Given the description of an element on the screen output the (x, y) to click on. 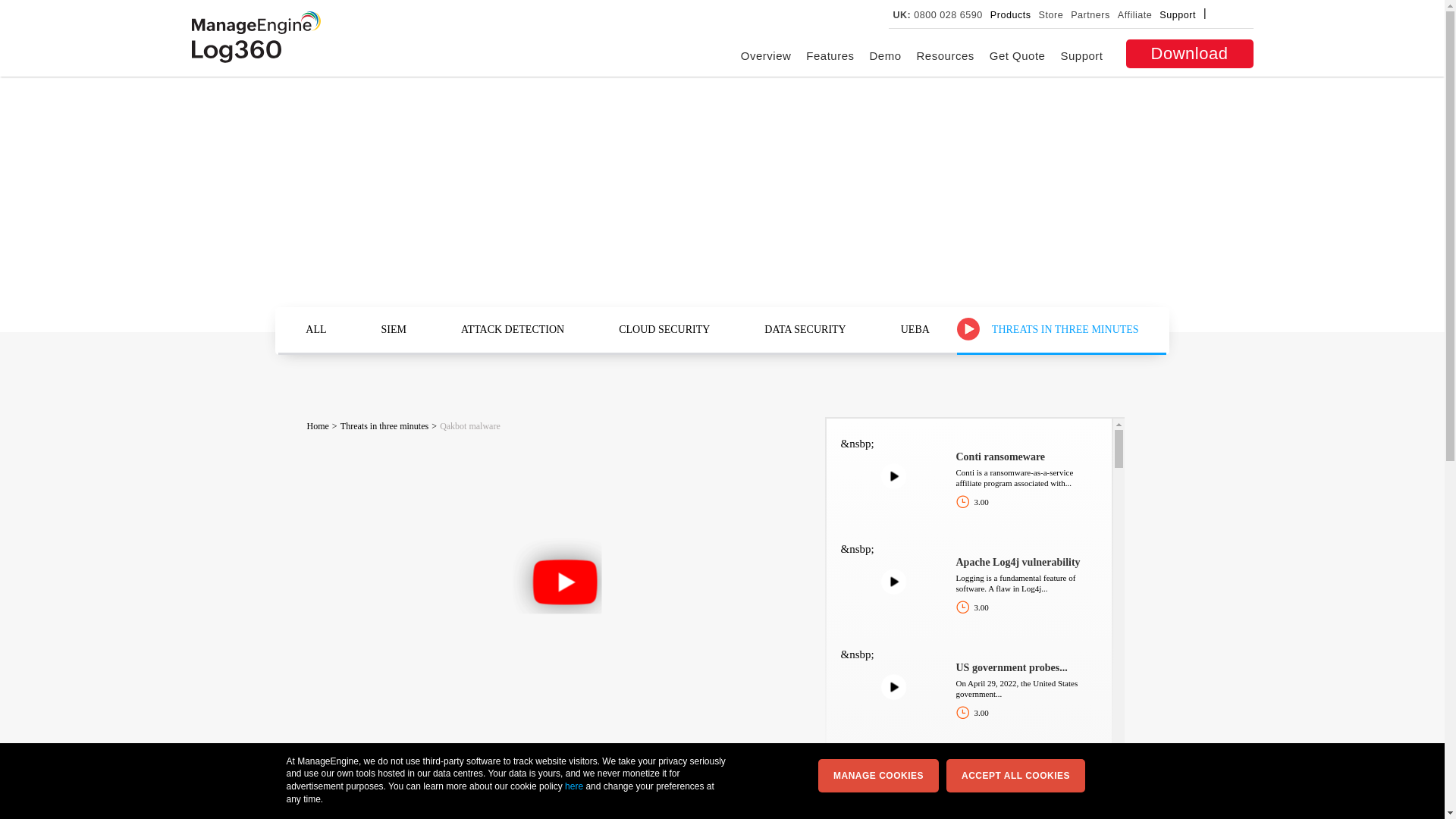
UK: 0800 028 6590 (936, 14)
ManageEngine Log360 (235, 51)
Support (1080, 55)
Resources (945, 55)
Overview (766, 55)
Download ManageEngine Log360 (1188, 53)
Demo (885, 55)
Get Quote (1017, 55)
Features (829, 55)
